Given the description of an element on the screen output the (x, y) to click on. 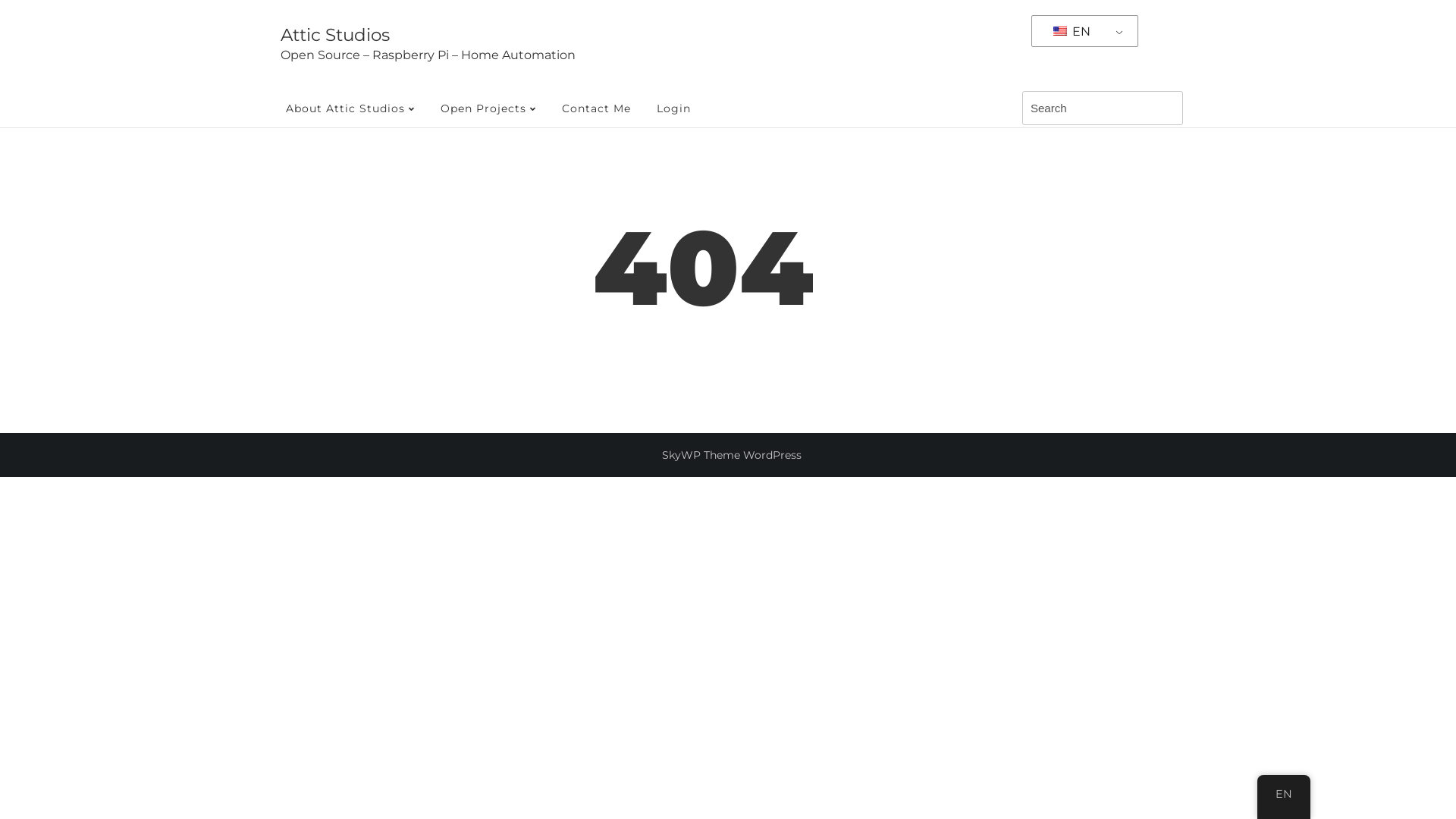
EN Element type: text (1283, 793)
Login Element type: text (673, 107)
Attic Studios Element type: text (334, 34)
About Attic Studios Element type: text (350, 107)
English Element type: hover (1059, 30)
SkyWP Theme WordPress Element type: text (731, 454)
EN Element type: text (1081, 30)
Open Projects Element type: text (488, 107)
Contact Me Element type: text (596, 107)
